Given the description of an element on the screen output the (x, y) to click on. 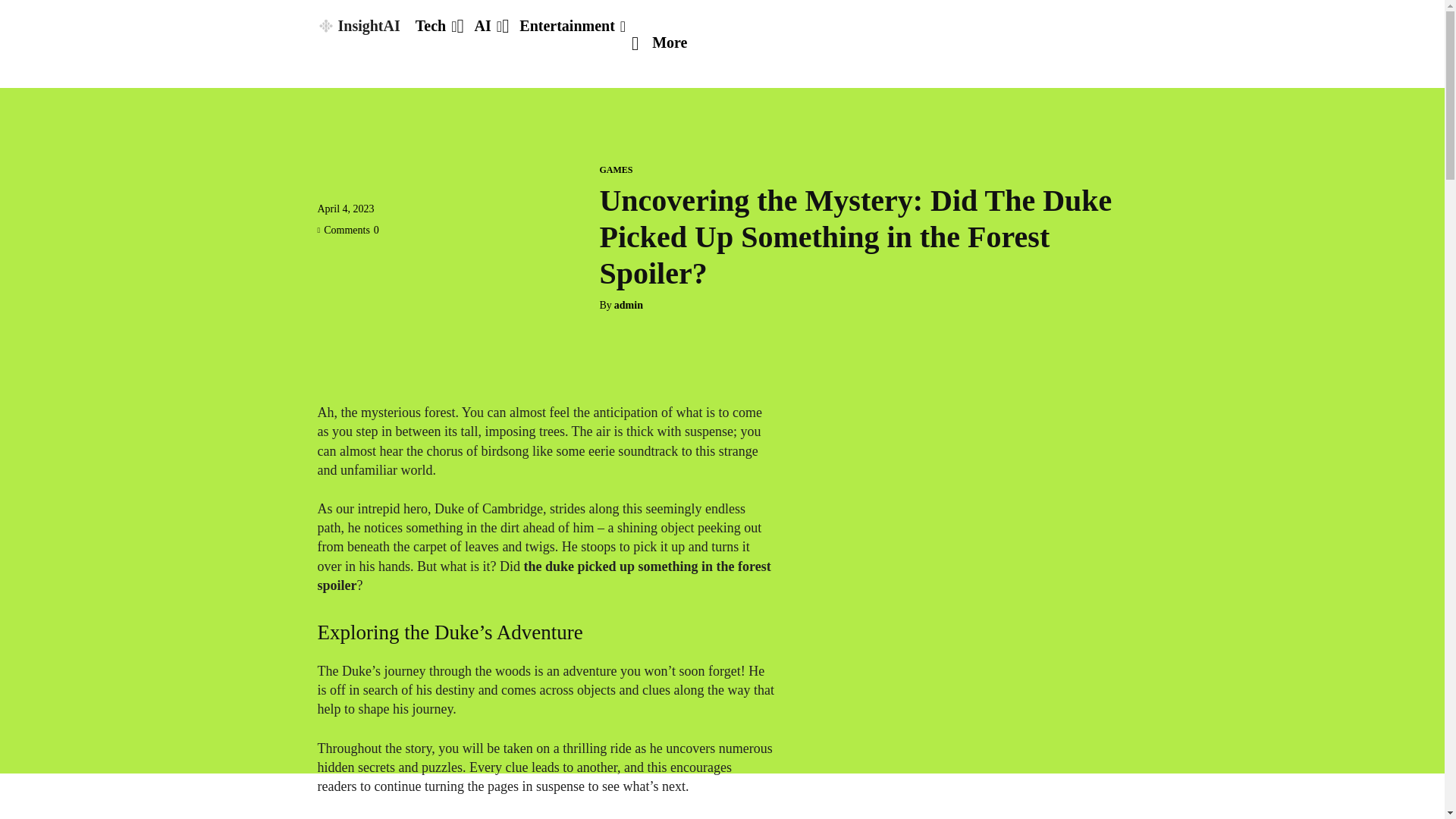
InsightAI (357, 25)
Tech (435, 25)
Entertainment (572, 25)
